Given the description of an element on the screen output the (x, y) to click on. 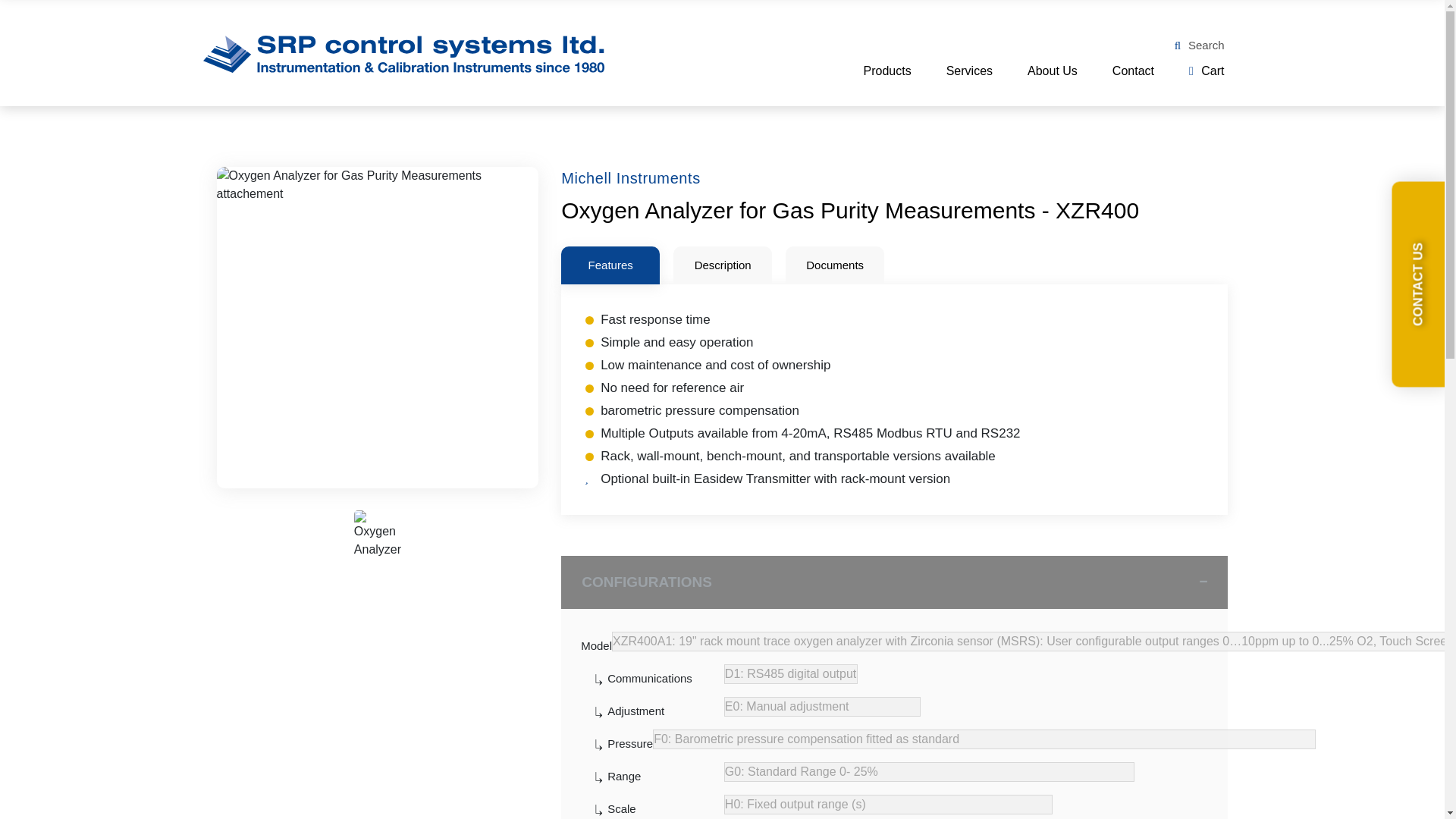
Main Site Logo - Go to the home page (403, 54)
About Us (1052, 70)
Oxygen Analyzer for Gas Purity Measurements - XZR400 (849, 210)
Services (969, 70)
Search (1199, 45)
Features (609, 265)
Documents (834, 265)
CONFIGURATIONS (893, 582)
Contact (1133, 70)
Cart (1206, 70)
